Given the description of an element on the screen output the (x, y) to click on. 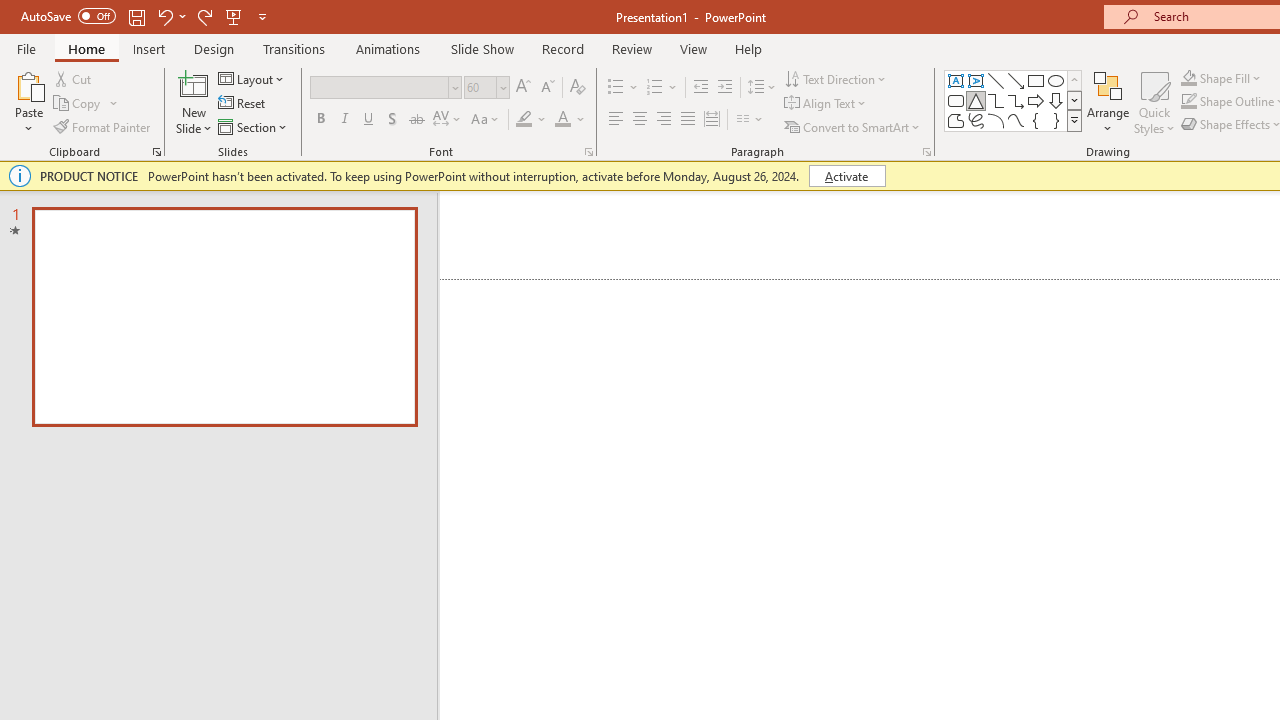
Justify (687, 119)
Decrease Indent (700, 87)
Row up (1074, 79)
Font Color Red (562, 119)
Strikethrough (416, 119)
Line Spacing (762, 87)
Freeform: Scribble (975, 120)
Paragraph... (926, 151)
Cut (73, 78)
Shape Outline Dark Red, Accent 1 (1188, 101)
